Given the description of an element on the screen output the (x, y) to click on. 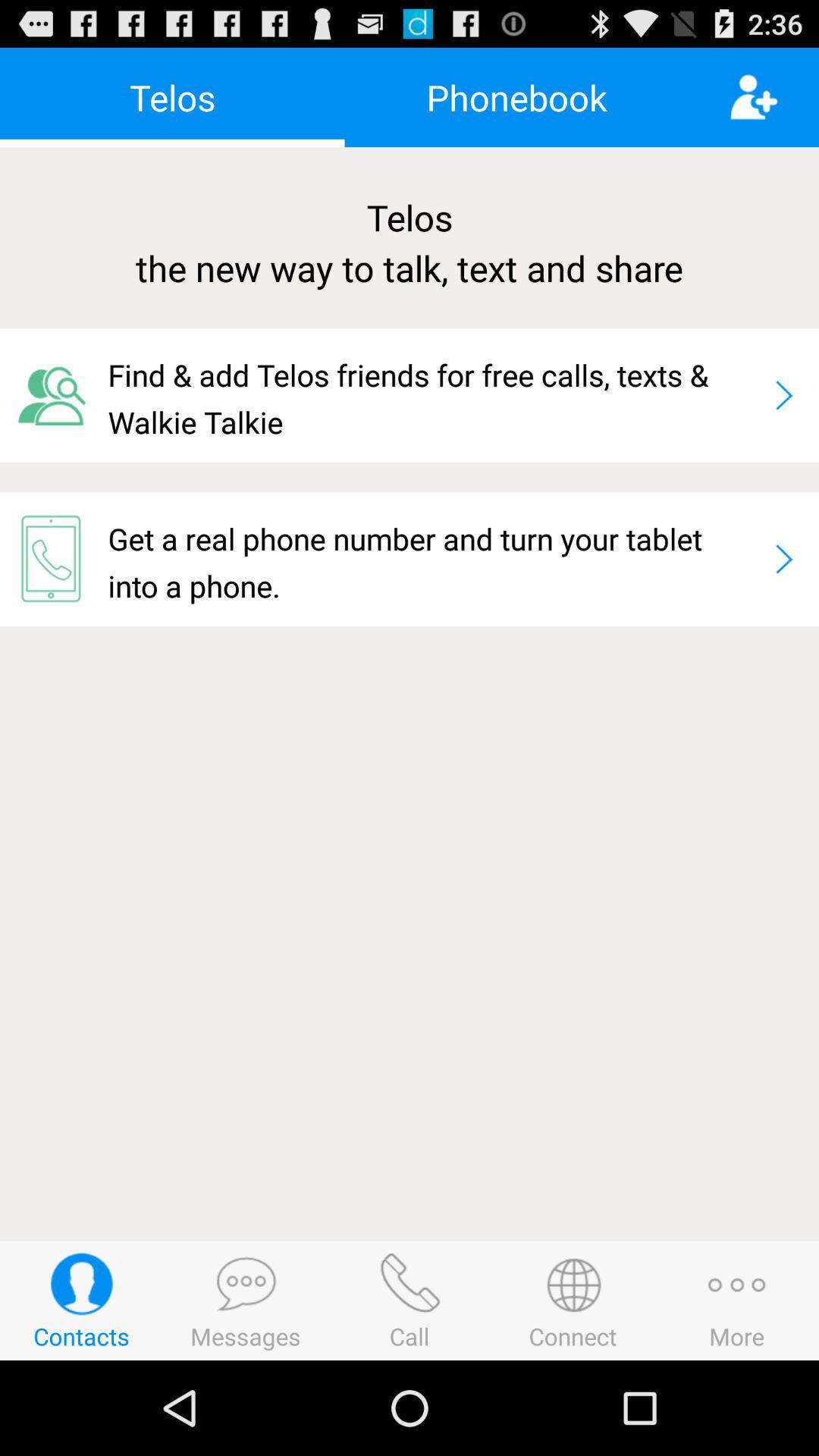
select icon to the right of the find add telos item (783, 395)
